Given the description of an element on the screen output the (x, y) to click on. 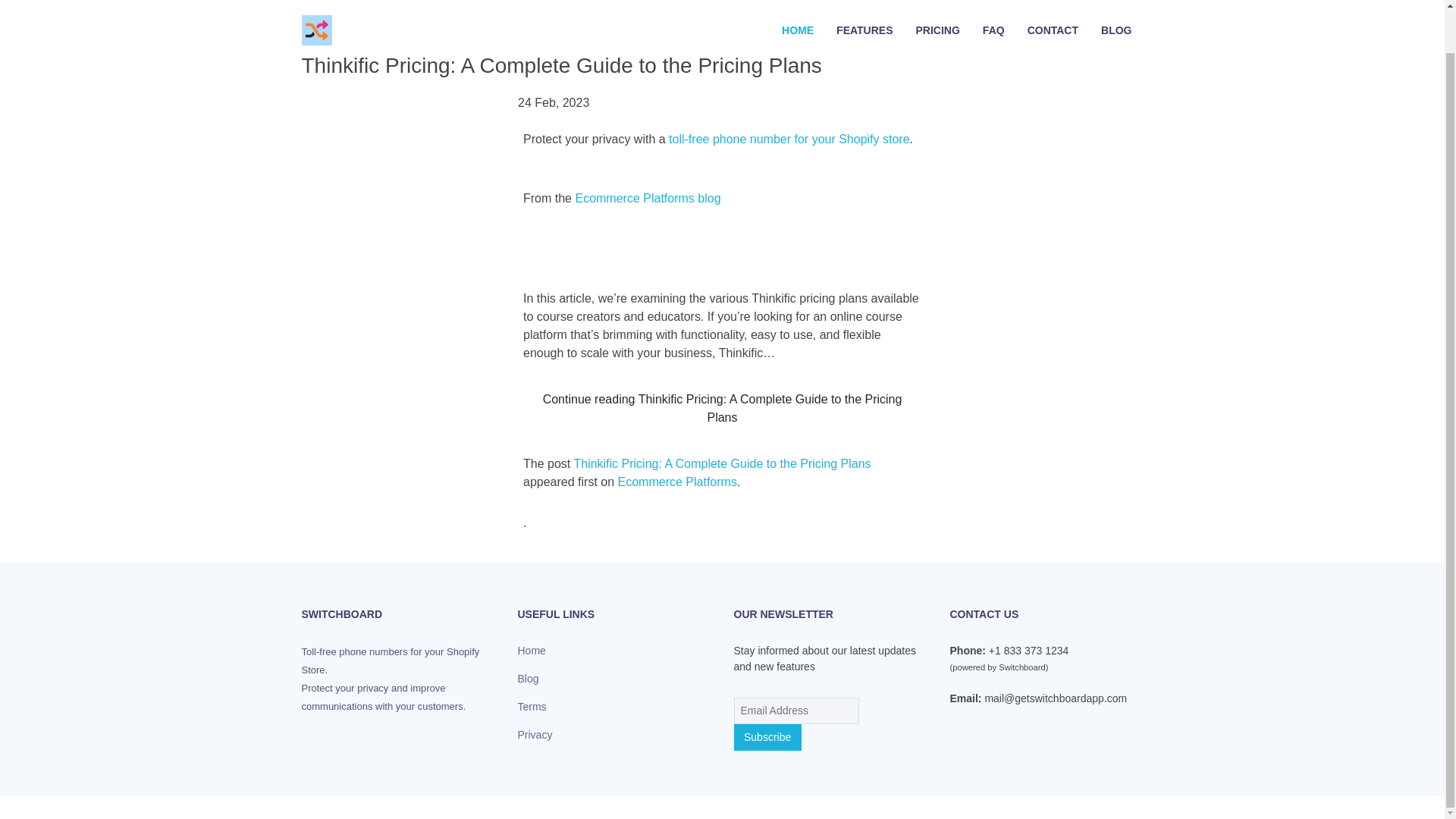
PRICING (937, 0)
FAQ (993, 0)
Subscribe (767, 737)
Ecommerce Platforms (676, 481)
Ecommerce Platforms blog (647, 197)
Home (530, 650)
Terms (531, 706)
BLOG (1115, 0)
Privacy (533, 734)
Thinkific Pricing: A Complete Guide to the Pricing Plans (721, 463)
toll-free phone number for your Shopify store (789, 138)
Subscribe (767, 737)
HOME (797, 0)
